Given the description of an element on the screen output the (x, y) to click on. 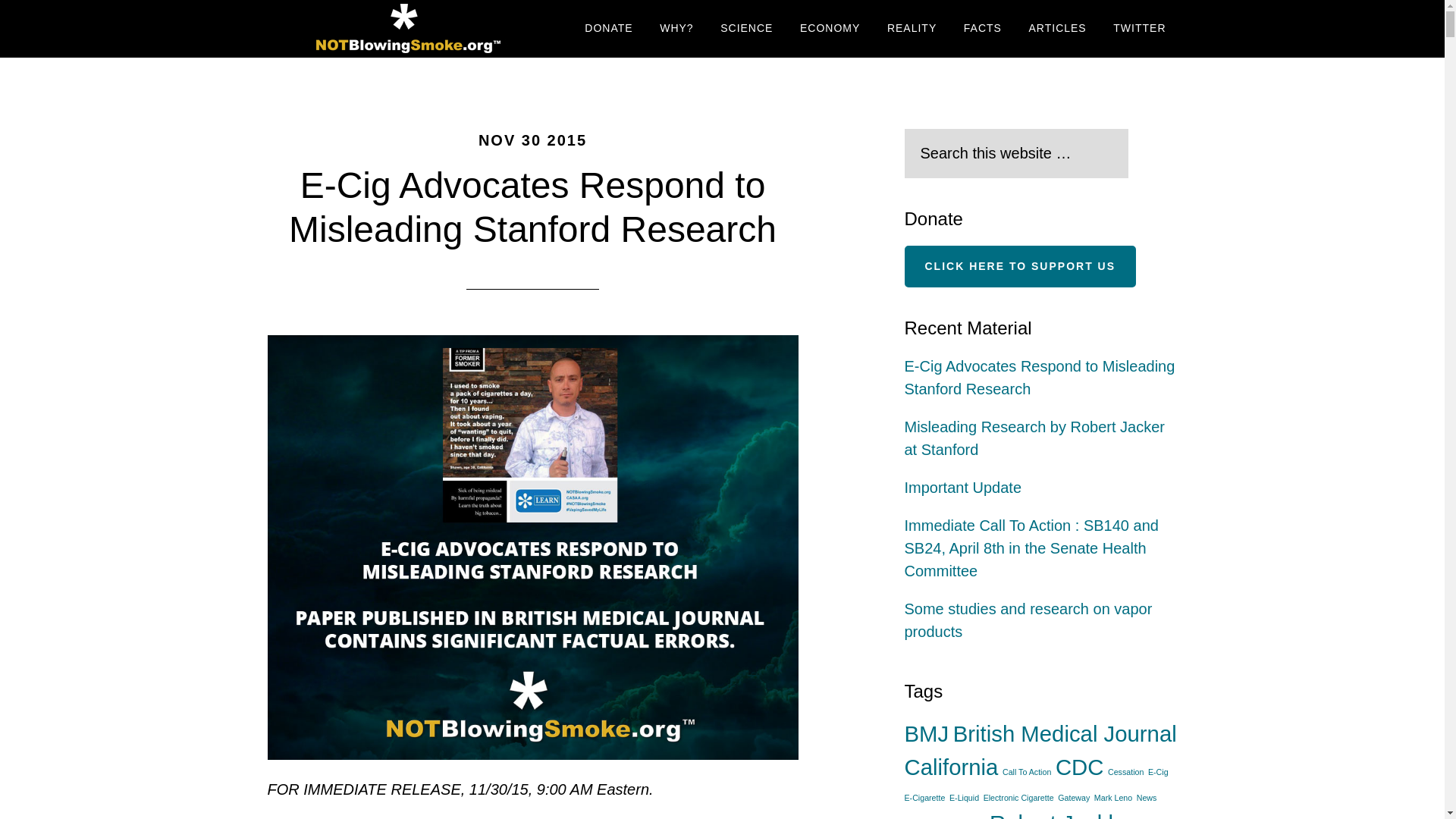
TWITTER (1139, 28)
ECONOMY (829, 28)
NOT BLOWING SMOKE (403, 28)
FACTS (982, 28)
WHY? (675, 28)
REALITY (911, 28)
ARTICLES (1057, 28)
E-Cig Advocates Respond to Misleading Stanford Research (532, 207)
DONATE (608, 28)
SCIENCE (746, 28)
